Given the description of an element on the screen output the (x, y) to click on. 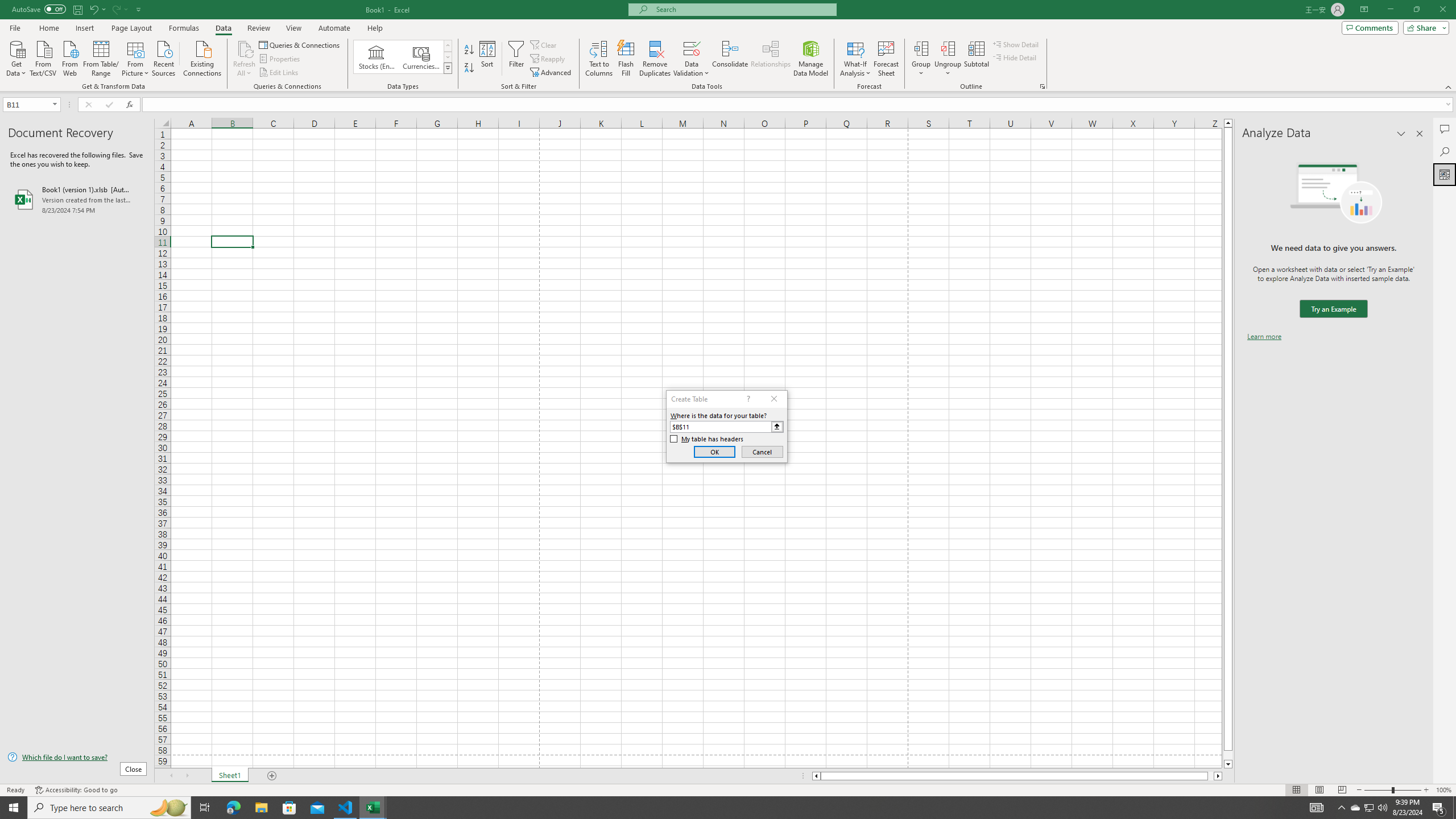
Recent Sources (163, 57)
Properties (280, 58)
Data Types (448, 67)
Manage Data Model (810, 58)
